Given the description of an element on the screen output the (x, y) to click on. 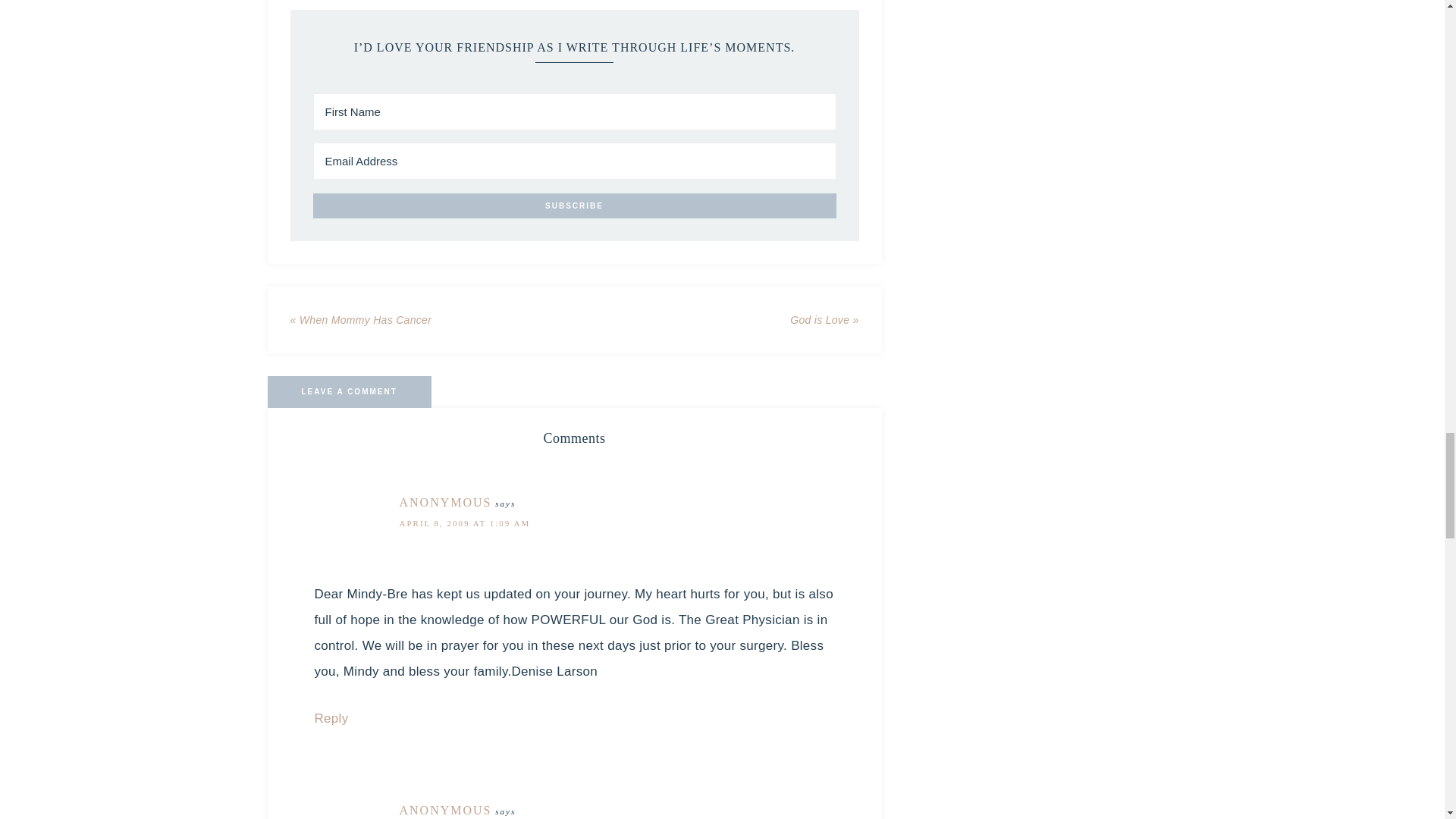
Reply (330, 718)
Subscribe (574, 205)
APRIL 8, 2009 AT 1:09 AM (463, 522)
ANONYMOUS (445, 502)
LEAVE A COMMENT (348, 391)
ANONYMOUS (445, 809)
Subscribe (574, 205)
